Given the description of an element on the screen output the (x, y) to click on. 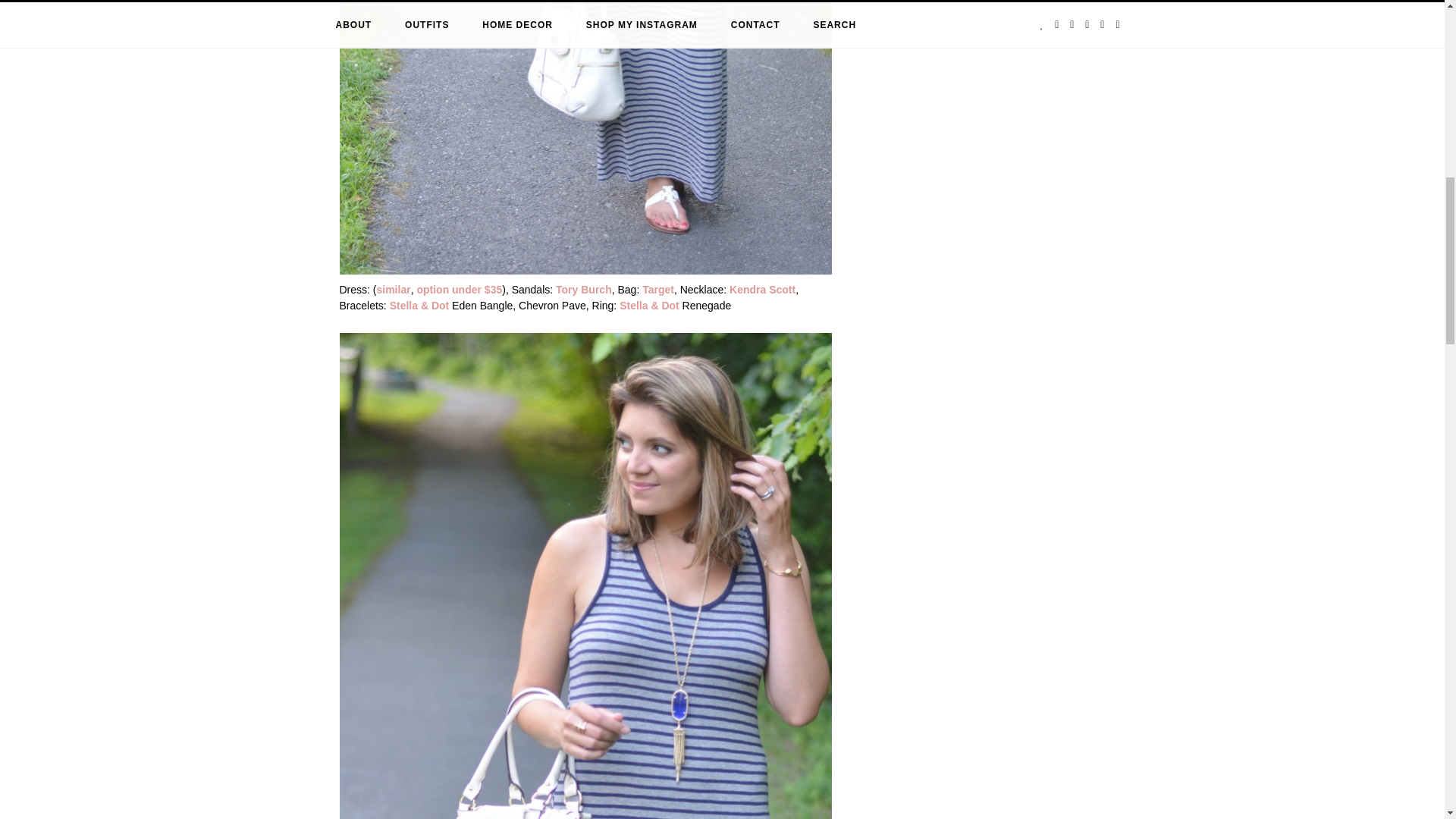
Kendra Scott (761, 289)
Tory Burch (583, 289)
similar (392, 289)
Target (658, 289)
